Given the description of an element on the screen output the (x, y) to click on. 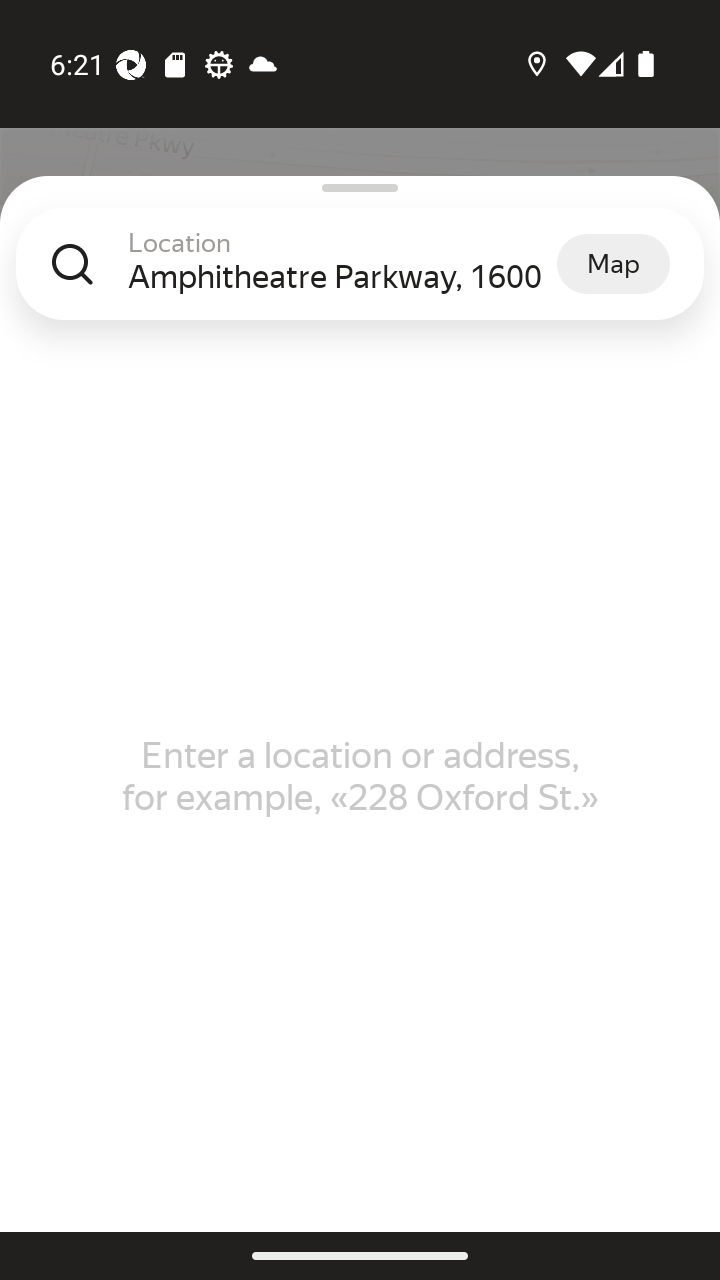
Location Amphitheatre Parkway, 1600 Map (360, 280)
Map (613, 263)
Amphitheatre Parkway, 1600 (341, 276)
